Given the description of an element on the screen output the (x, y) to click on. 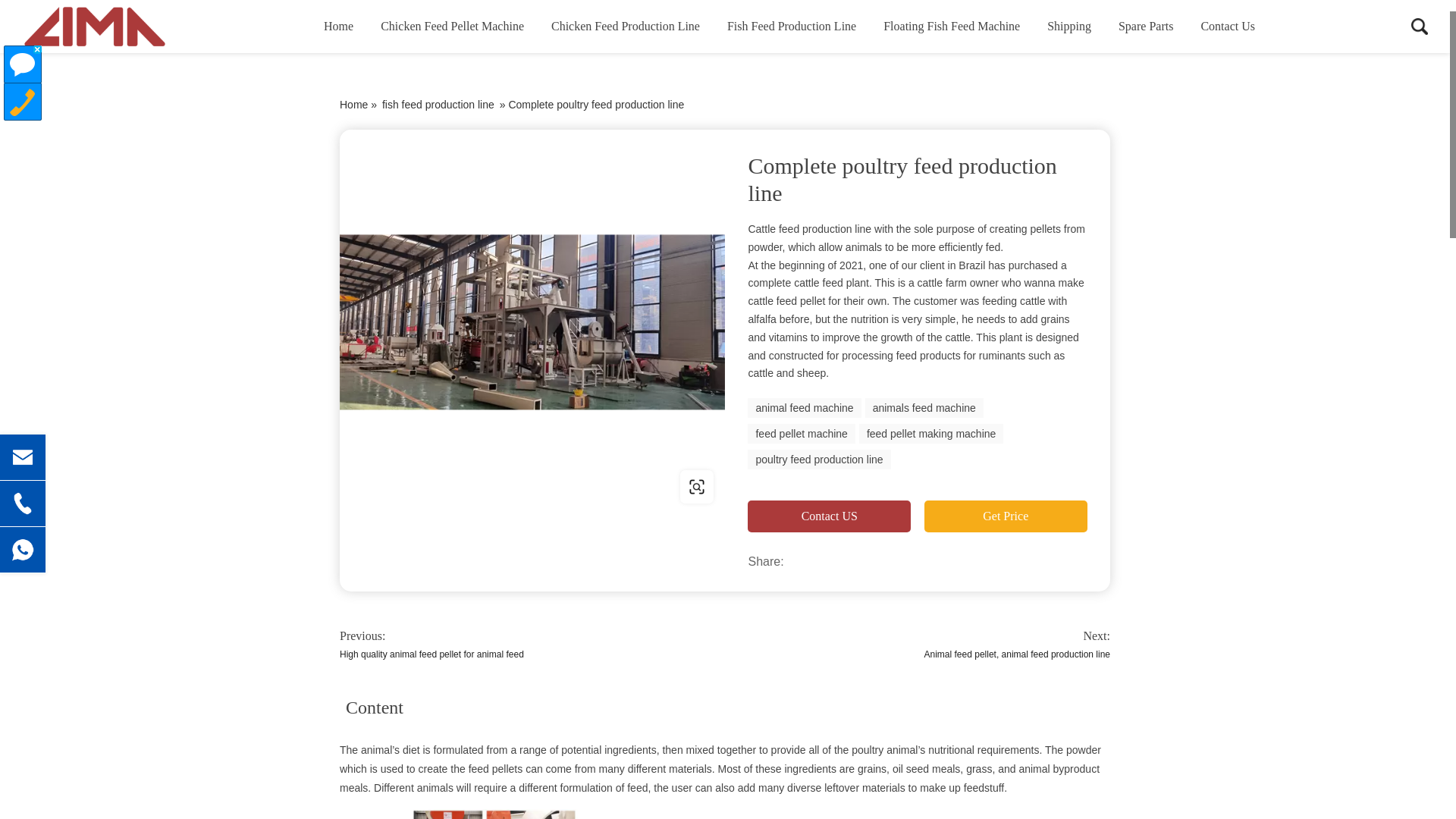
Contact Us (1227, 26)
Henan lima machinery manufacture Co.,Ltd. (94, 26)
animal feed machine (804, 407)
Spare Parts (1145, 26)
Animal feed pellet, animal feed production line (1016, 654)
Contact US (829, 516)
feed pellet making machine (931, 433)
feed pellet machine (801, 433)
fish feed production line (438, 104)
animal feed pellet machine (696, 486)
